Given the description of an element on the screen output the (x, y) to click on. 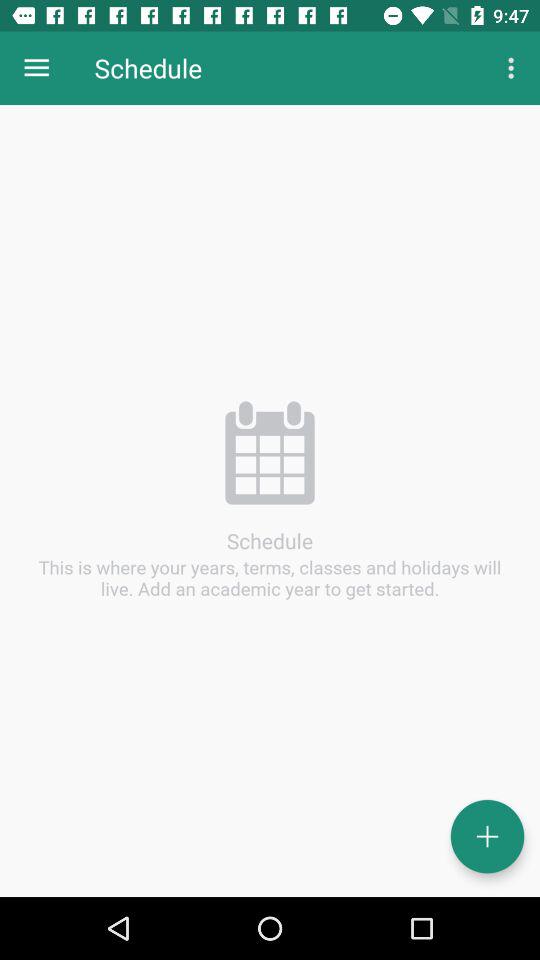
add an event (487, 836)
